Given the description of an element on the screen output the (x, y) to click on. 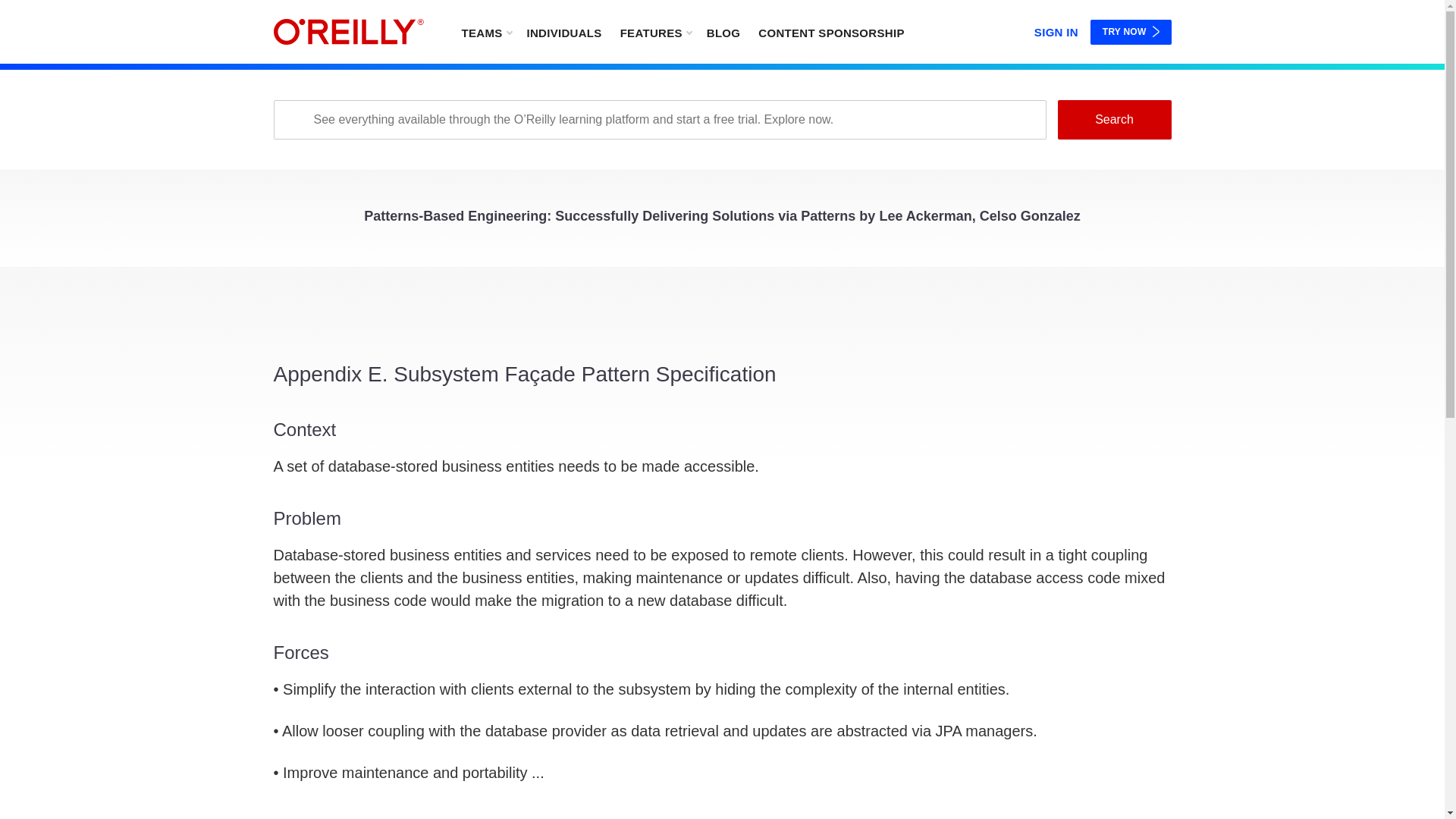
Search (1113, 119)
SIGN IN (1055, 29)
TRY NOW (1131, 32)
home page (348, 31)
BLOG (723, 31)
INDIVIDUALS (563, 31)
CONTENT SPONSORSHIP (831, 31)
FEATURES (655, 31)
TEAMS (486, 31)
